Given the description of an element on the screen output the (x, y) to click on. 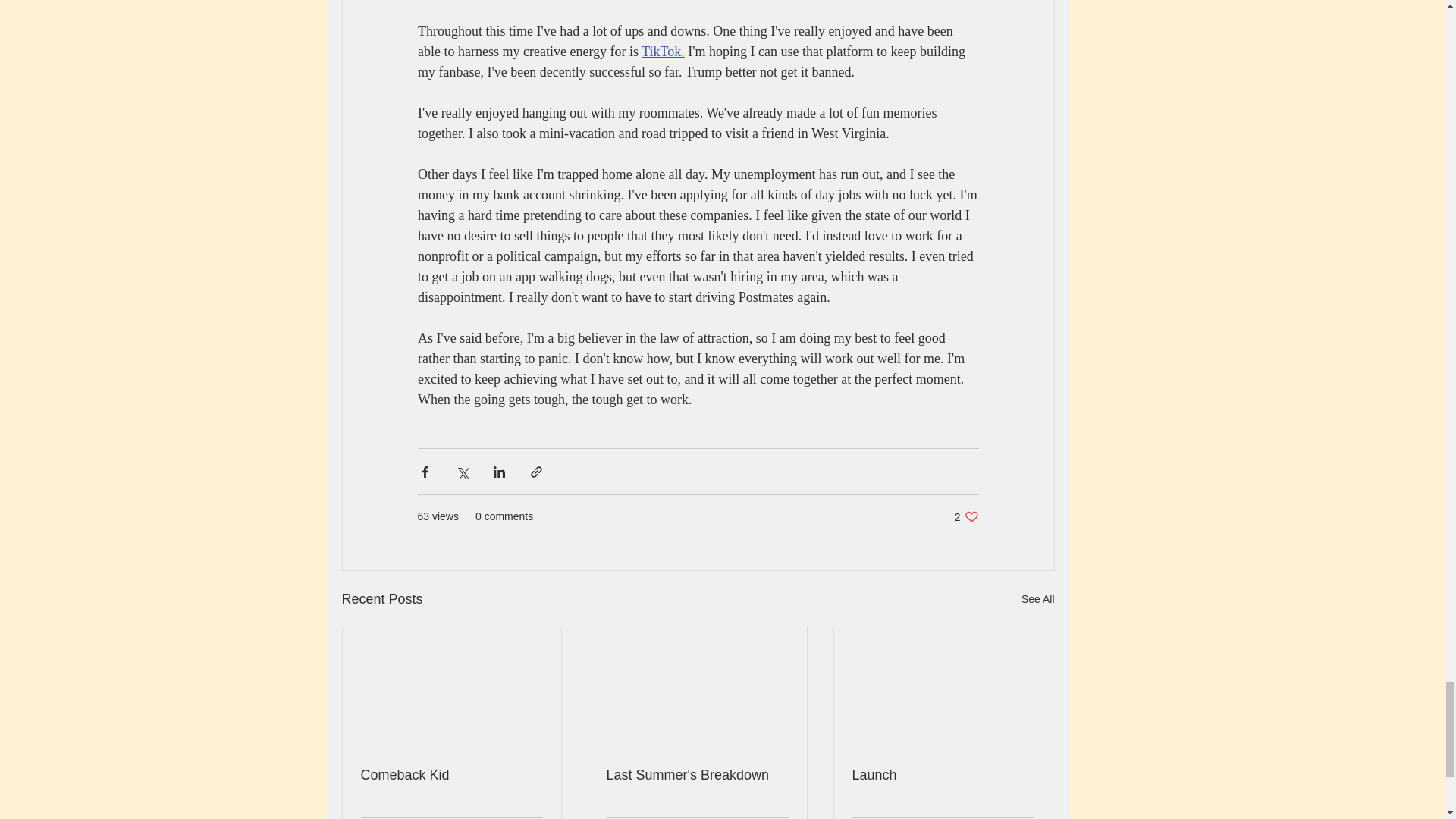
Comeback Kid (452, 774)
Last Summer's Breakdown (966, 516)
See All (698, 774)
Launch (1038, 599)
TikTok. (942, 774)
